Given the description of an element on the screen output the (x, y) to click on. 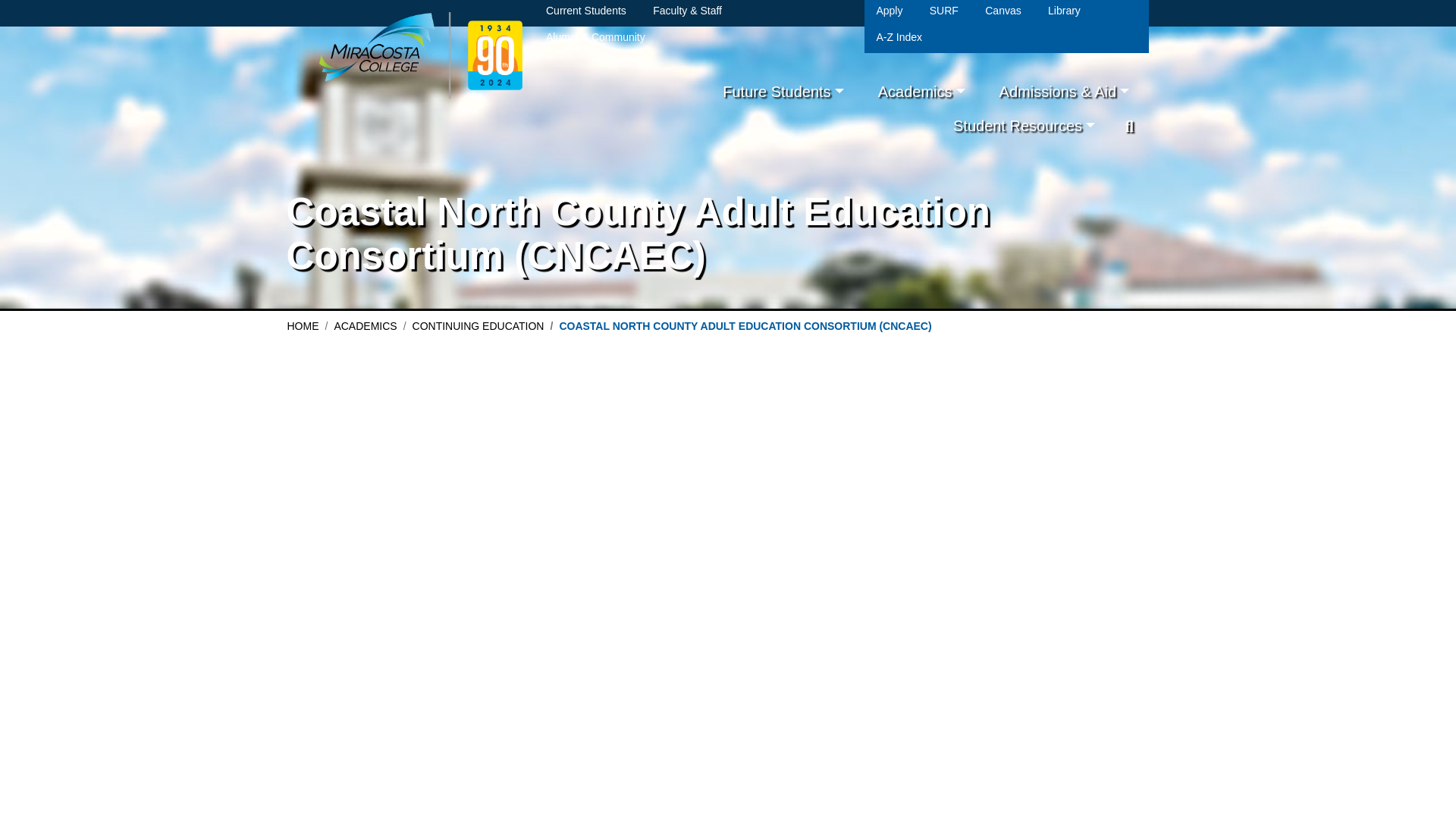
Current MiraCosta Student Resources (585, 15)
Register and Add Classes with SURF (943, 15)
Search the MiraCosta College A-Z Index (898, 38)
Student Resources (1024, 123)
SURF (943, 15)
Apply (888, 15)
The MiraCosta College Library (1064, 15)
Library (1064, 15)
Current Students (585, 15)
Current MiraCosta College Student Resources (1024, 123)
